Given the description of an element on the screen output the (x, y) to click on. 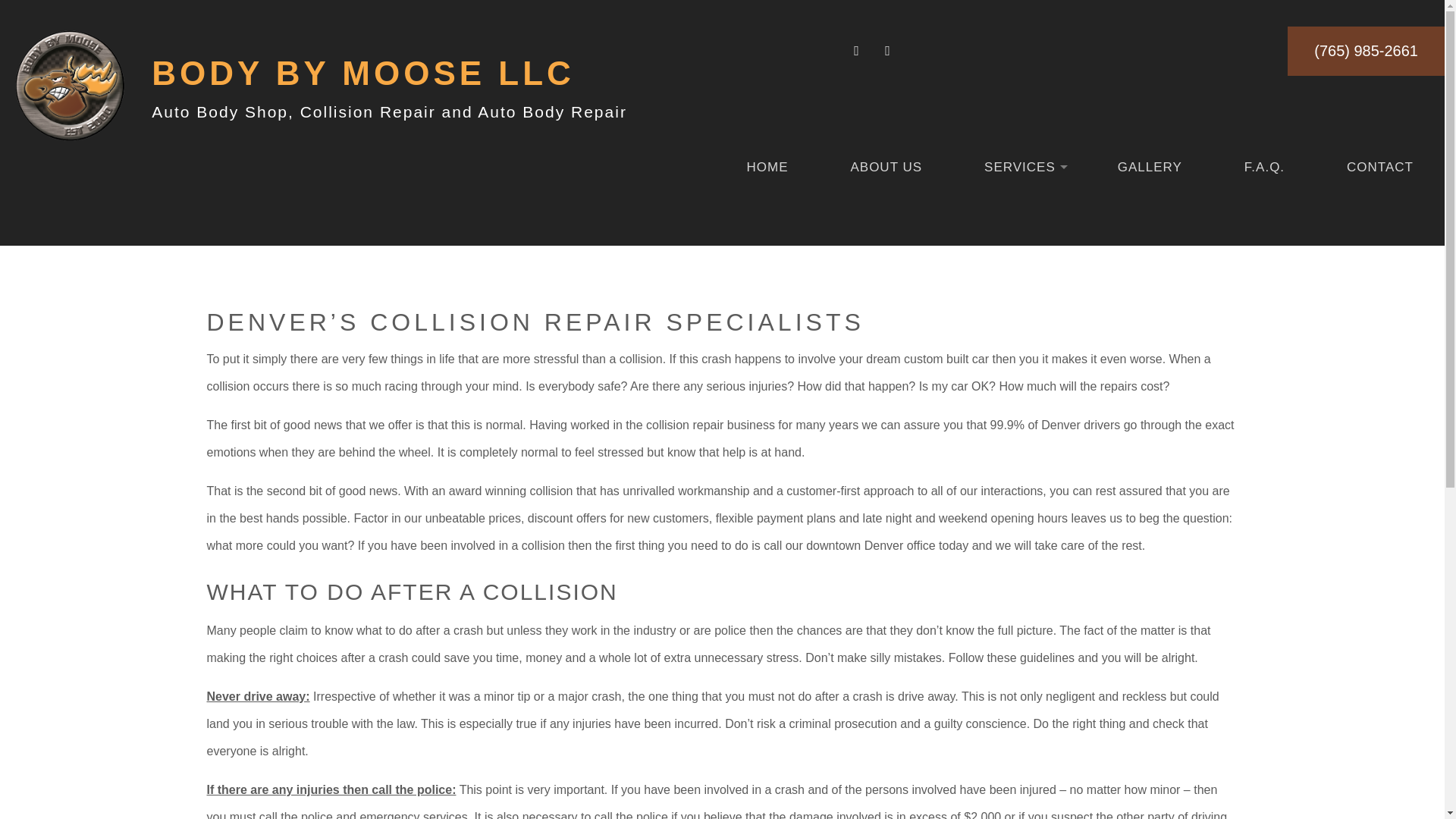
GLASS REPAIR (1181, 318)
DECALS AND GRAPHICS (1181, 287)
AUTO AC (857, 223)
COLLISION REPAIR (1181, 255)
GALLERY (1149, 167)
Body By Moose LLC's Facebook (858, 51)
DENT REPAIR (857, 318)
BODY BY MOOSE LLC (363, 72)
F.A.Q. (1264, 167)
CONTACT (1380, 167)
SERVICES (1019, 167)
HOME (767, 167)
AUTO INSURANCE CLAIM (1181, 223)
Body By Moose LLC's Google Maps (887, 51)
ABOUT US (885, 167)
